Given the description of an element on the screen output the (x, y) to click on. 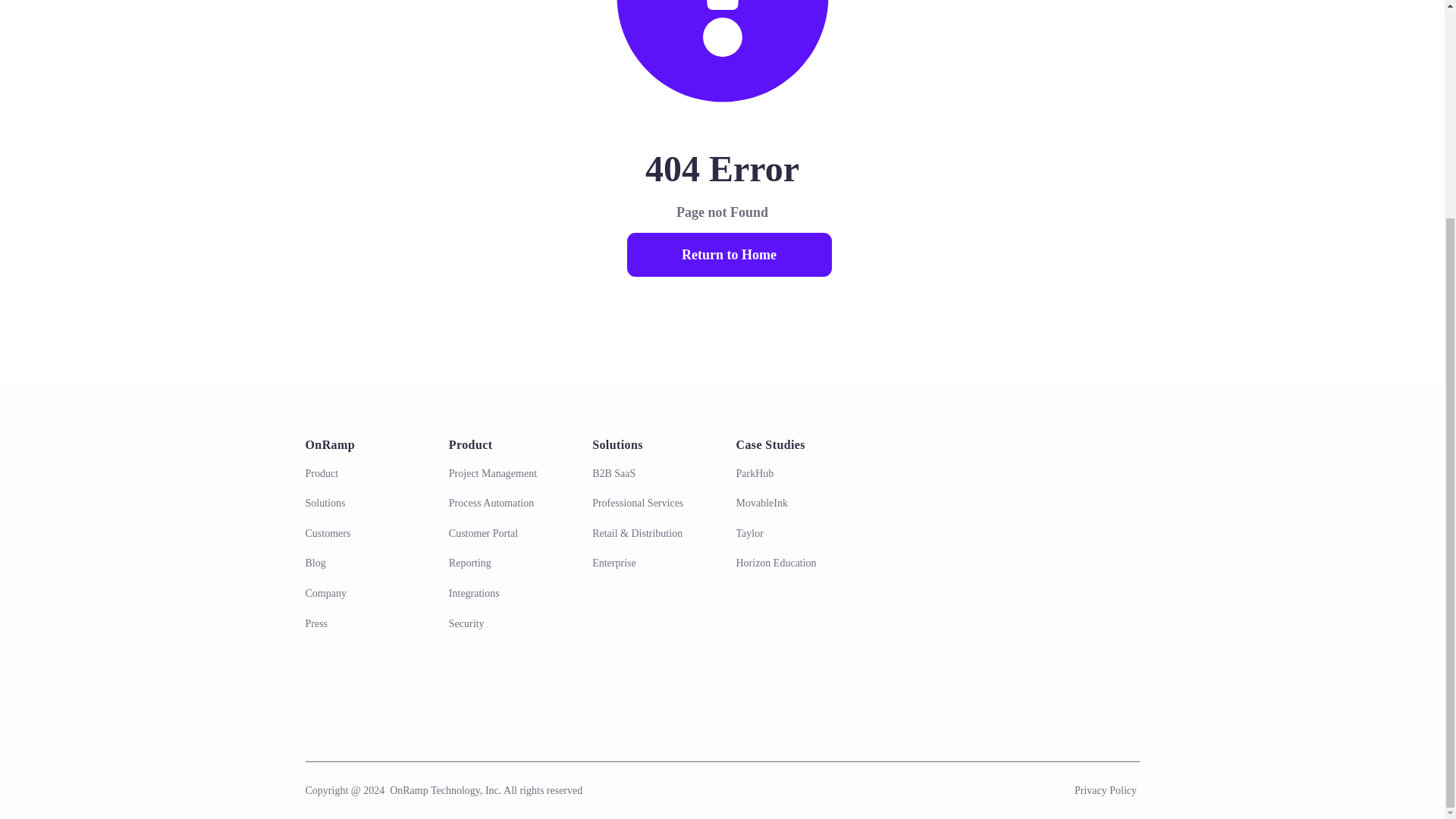
Customer Portal (506, 533)
Return to Home (728, 254)
B2B SaaS (649, 473)
Press (362, 623)
Reporting (506, 563)
Blog (362, 563)
Company (362, 593)
Process Automation (506, 503)
Customers (362, 533)
Security (506, 623)
Product (362, 473)
Solutions (362, 503)
Professional Services (649, 503)
Integrations (506, 593)
Project Management (506, 473)
